Given the description of an element on the screen output the (x, y) to click on. 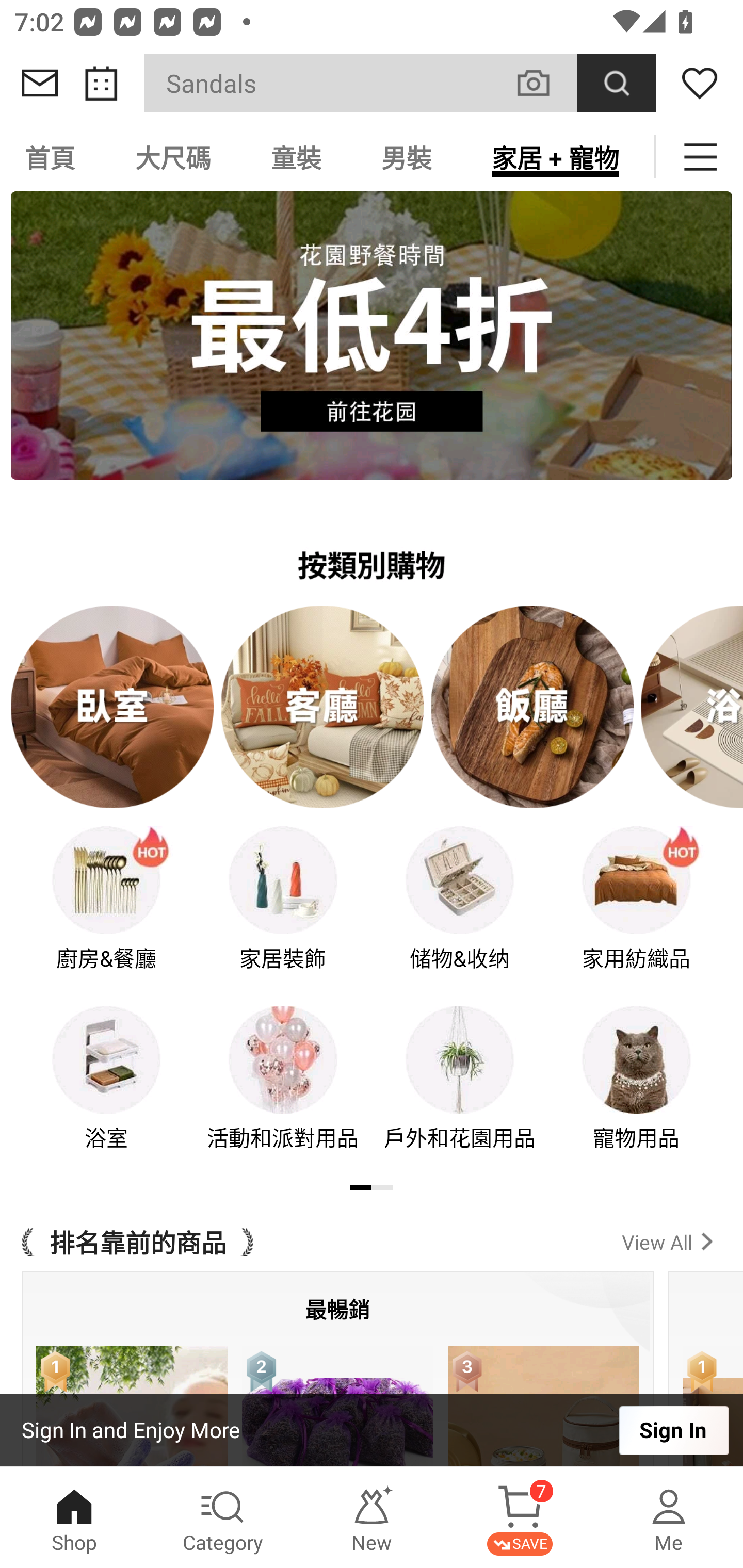
Wishlist (699, 82)
VISUAL SEARCH (543, 82)
首頁 (52, 156)
大尺碼 (172, 156)
童裝 (295, 156)
男裝 (406, 156)
家居 + 寵物 (555, 156)
廚房&餐廳 (105, 912)
家居裝飾 (282, 912)
储物&收纳 (459, 912)
家用紡織品 (636, 912)
浴室 (105, 1091)
活動和派對用品 (282, 1091)
戶外和花園用品 (459, 1091)
寵物用品 (636, 1091)
Sign In and Enjoy More Sign In (371, 1429)
Category (222, 1517)
New (371, 1517)
Cart 7 SAVE (519, 1517)
Me (668, 1517)
